Given the description of an element on the screen output the (x, y) to click on. 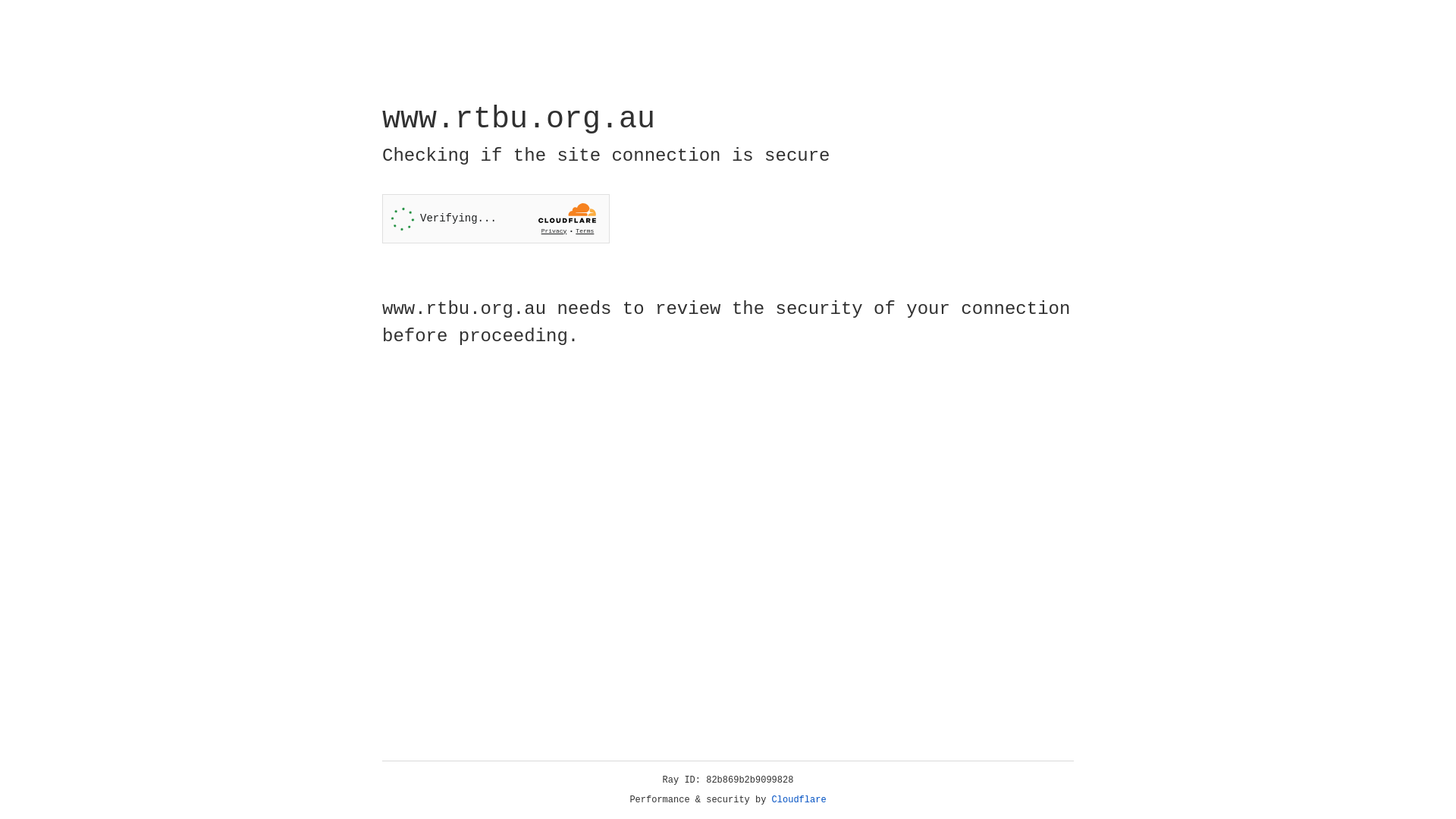
Widget containing a Cloudflare security challenge Element type: hover (495, 218)
Cloudflare Element type: text (798, 799)
